Given the description of an element on the screen output the (x, y) to click on. 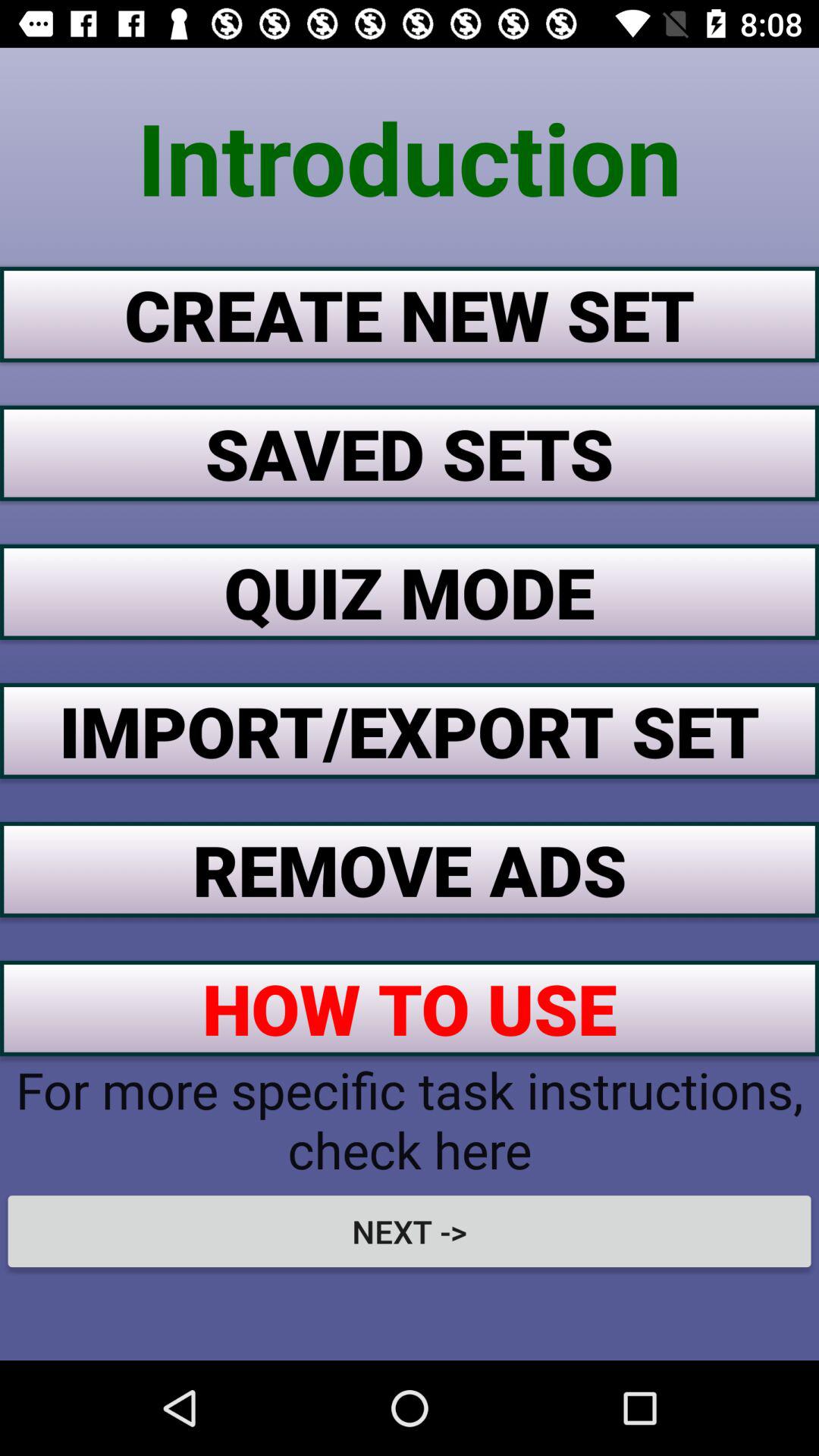
jump until how to use button (409, 1008)
